Given the description of an element on the screen output the (x, y) to click on. 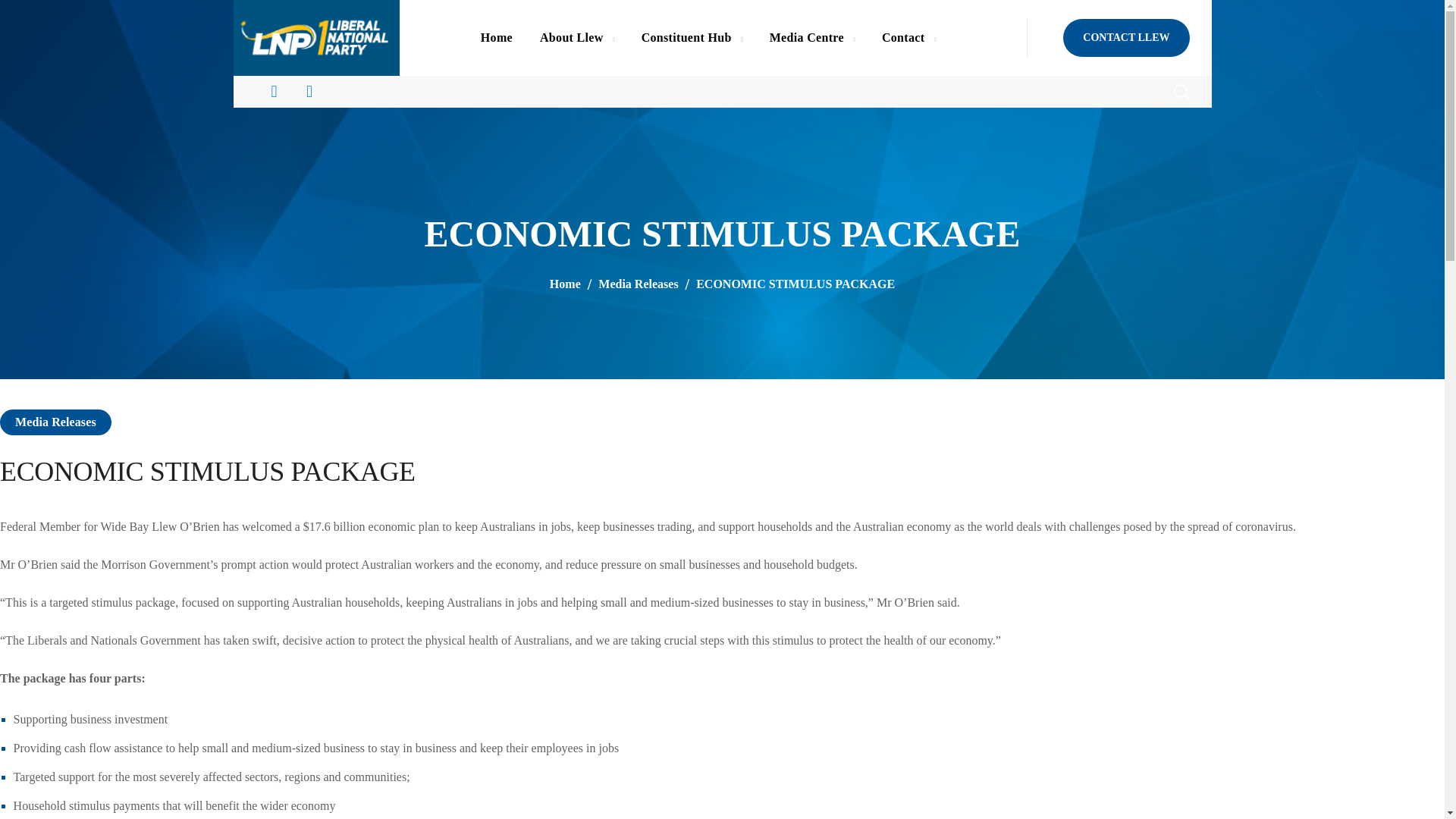
Search (1141, 137)
About Llew (576, 38)
Contact (908, 38)
Media Centre (811, 38)
CONTACT LLEW (1125, 37)
Constituent Hub (691, 38)
